Given the description of an element on the screen output the (x, y) to click on. 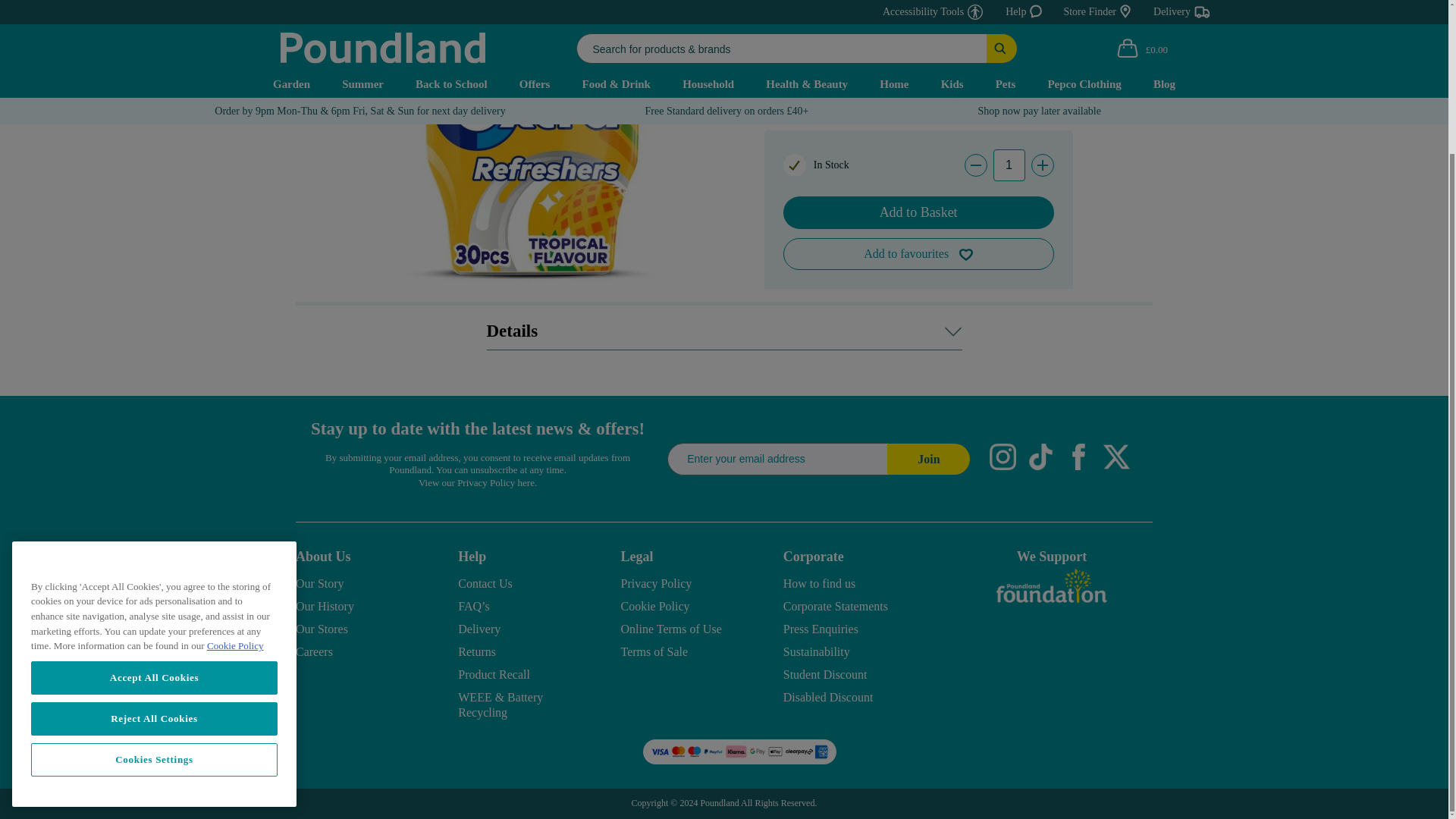
Add to Basket (918, 212)
Join (928, 459)
Qty (1008, 164)
1 (1008, 164)
Availability (815, 164)
